Given the description of an element on the screen output the (x, y) to click on. 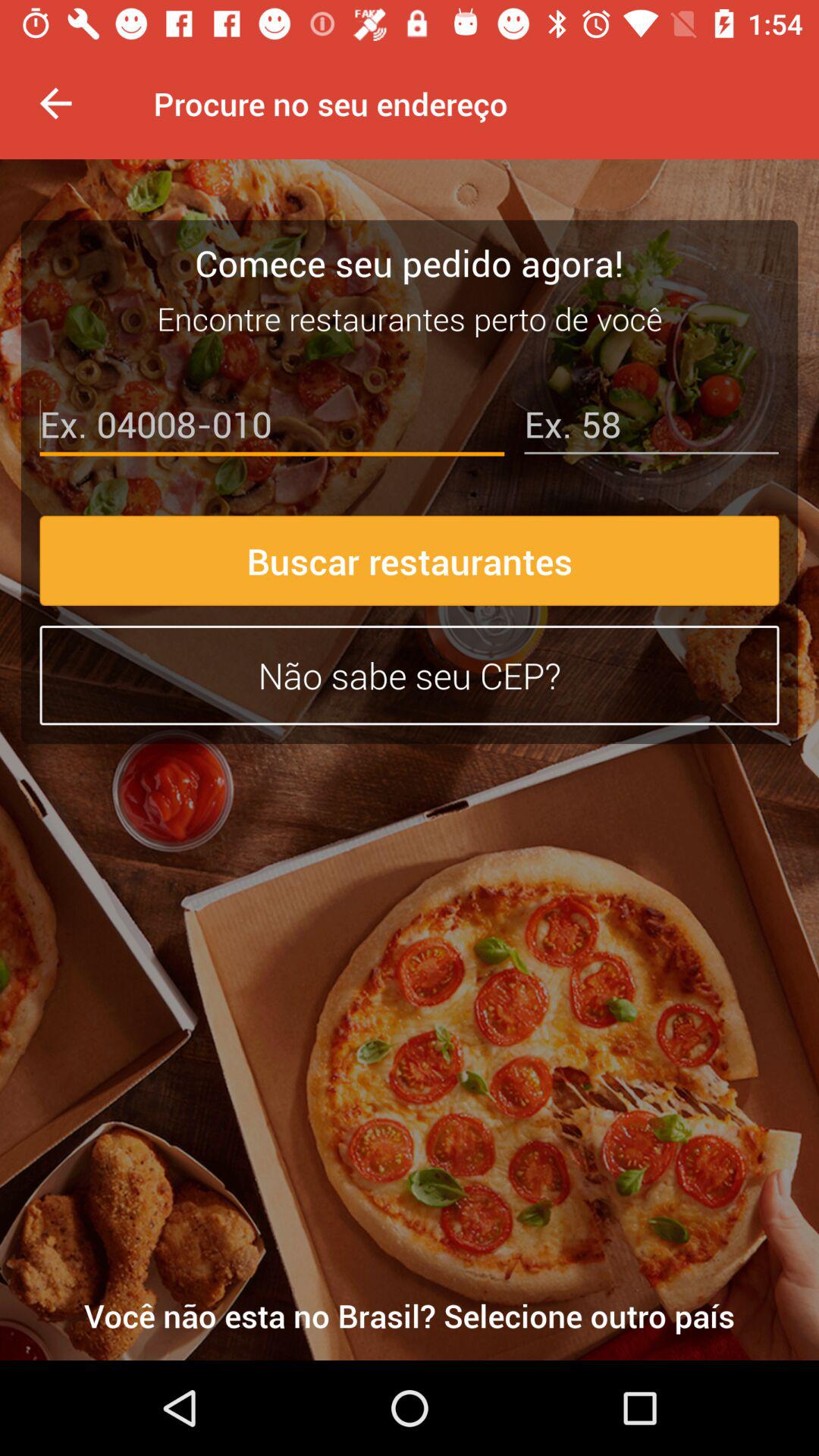
add phone extension (651, 427)
